Given the description of an element on the screen output the (x, y) to click on. 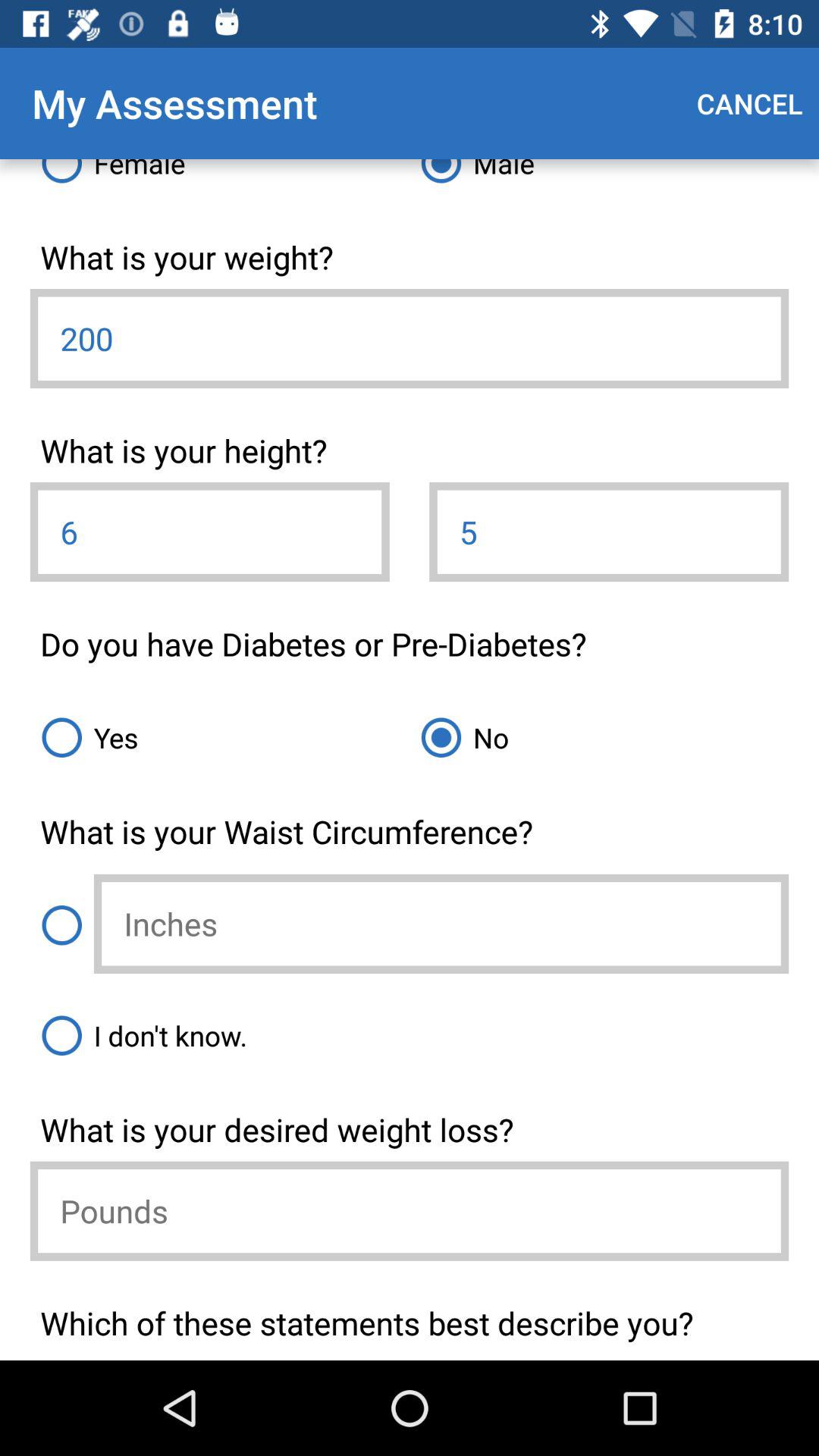
input weight in pounds (409, 1210)
